Given the description of an element on the screen output the (x, y) to click on. 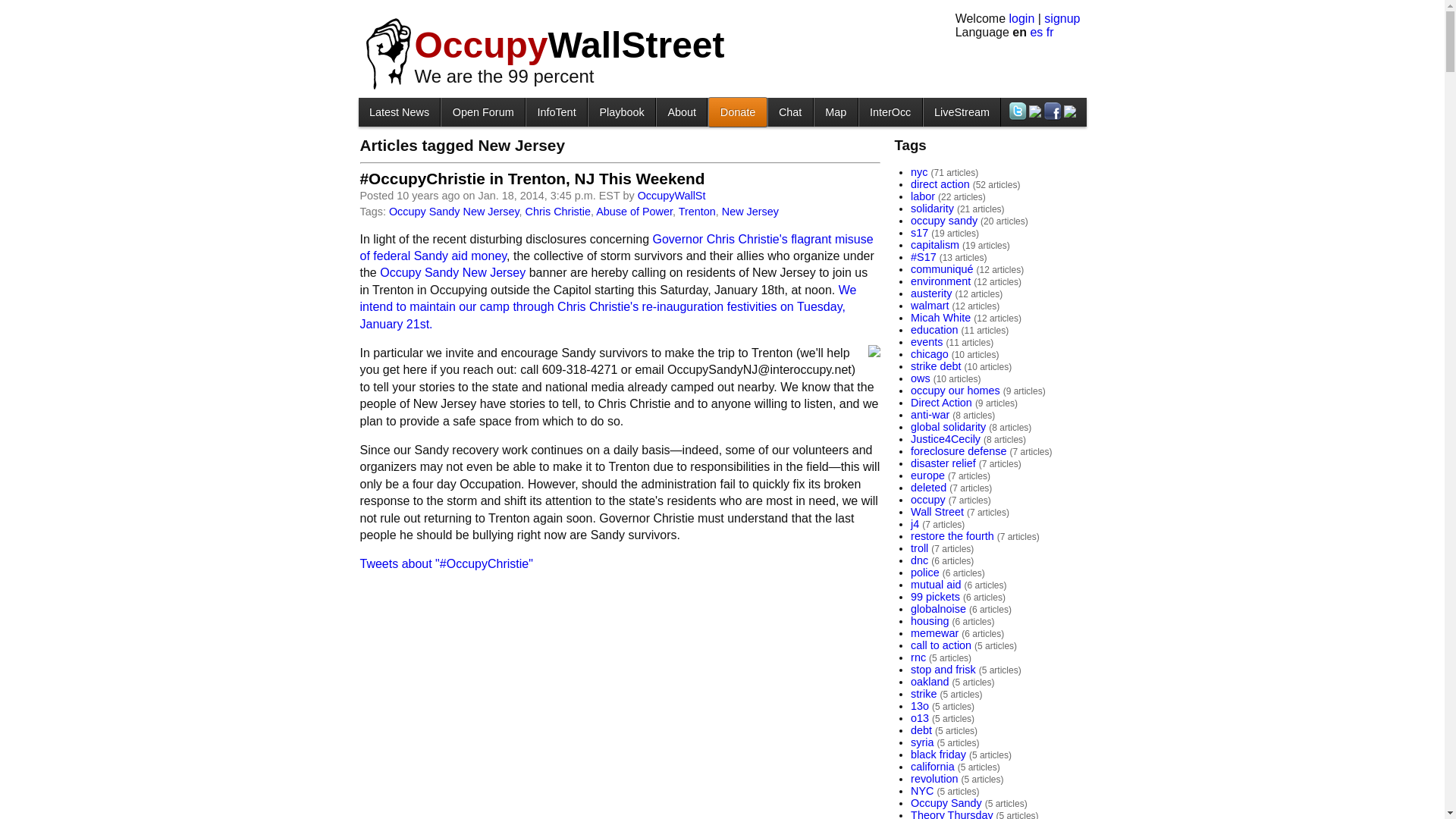
Occupy Sandy New Jersey (452, 272)
OccupyWallStreet (568, 45)
Online Guide to the Occupy movement (555, 111)
About (681, 111)
Latest News (398, 111)
News Articles (398, 111)
Public discussion board (482, 111)
Open Forum (482, 111)
About Us (681, 111)
Occupy Sandy New Jersey (453, 211)
OccupyWallSt (671, 195)
The End of Protest (621, 111)
Chris Christie (558, 211)
Abuse of Power (633, 211)
Trenton (697, 211)
